Given the description of an element on the screen output the (x, y) to click on. 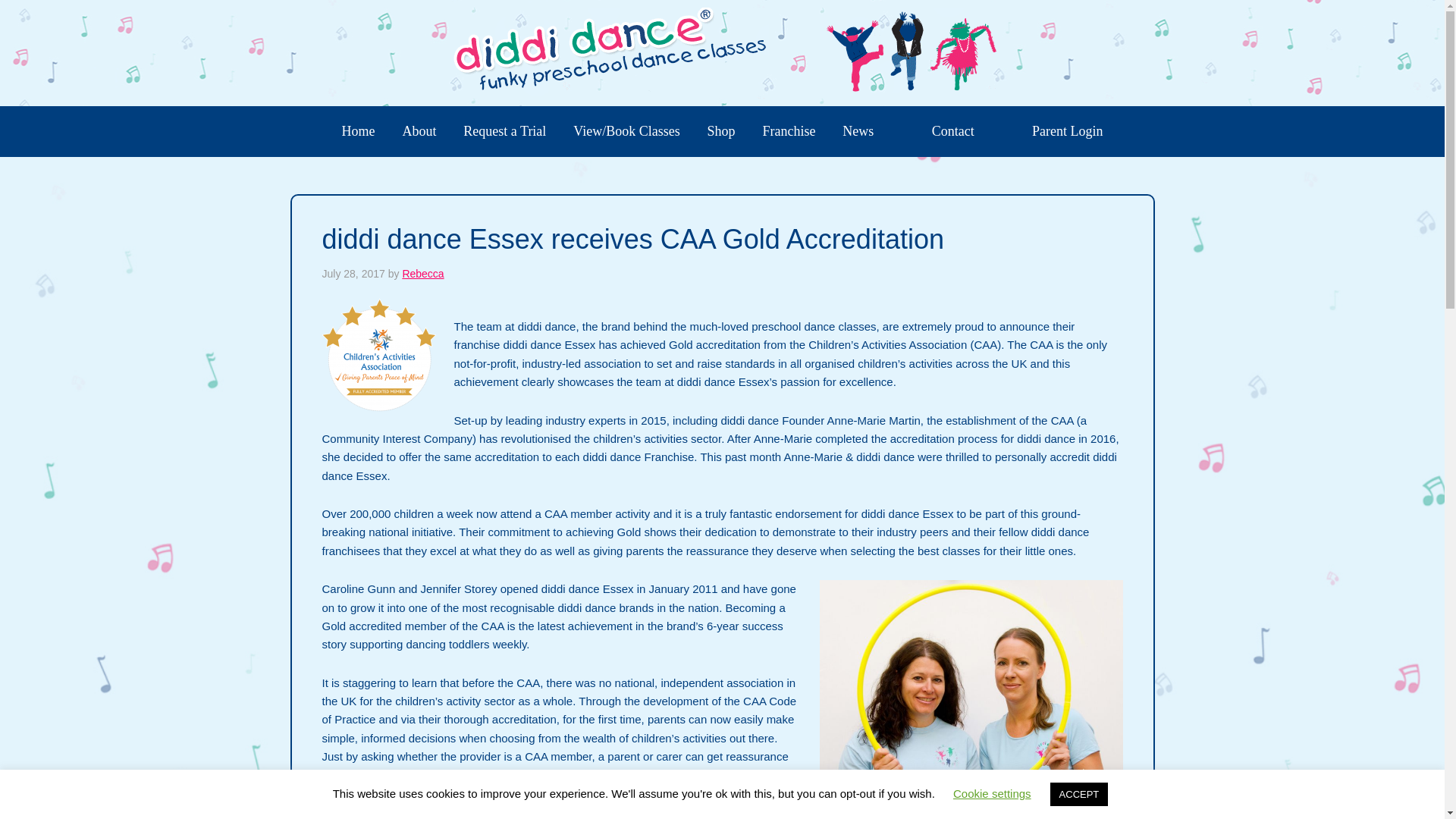
Shop (721, 131)
Rebecca (422, 273)
News (857, 131)
Home (358, 131)
Franchise (788, 131)
DIDDI DANCE (721, 52)
Request a Trial (504, 131)
Contact (953, 131)
Parent Login (1067, 131)
About (419, 131)
